Given the description of an element on the screen output the (x, y) to click on. 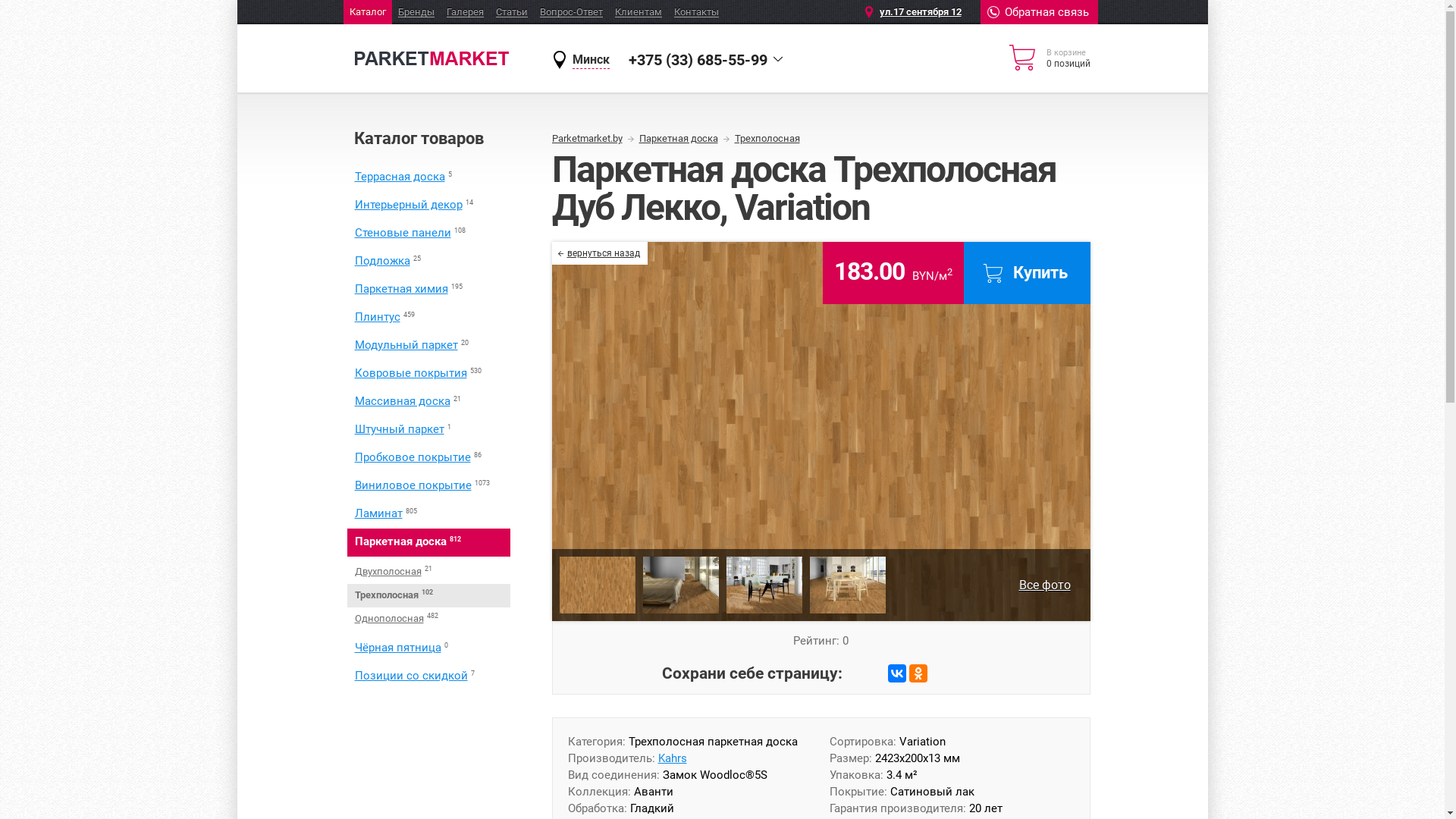
Parketmarket.by Element type: hover (430, 60)
Kahrs Element type: text (672, 758)
Parketmarket.by Element type: text (592, 138)
+375 (33) 685-55-99 Element type: text (696, 59)
